Given the description of an element on the screen output the (x, y) to click on. 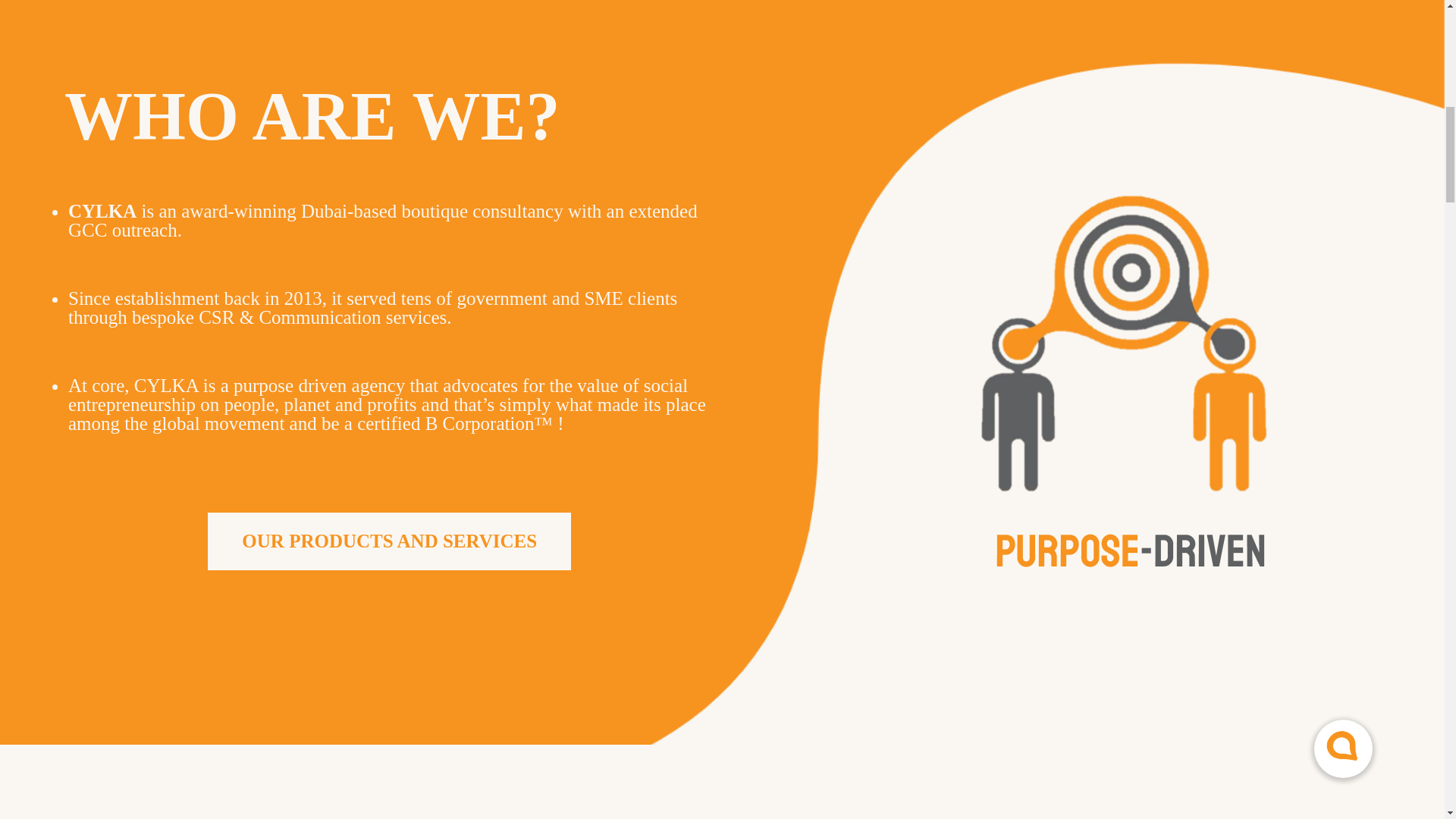
OUR PRODUCTS AND SERVICES (389, 541)
